Given the description of an element on the screen output the (x, y) to click on. 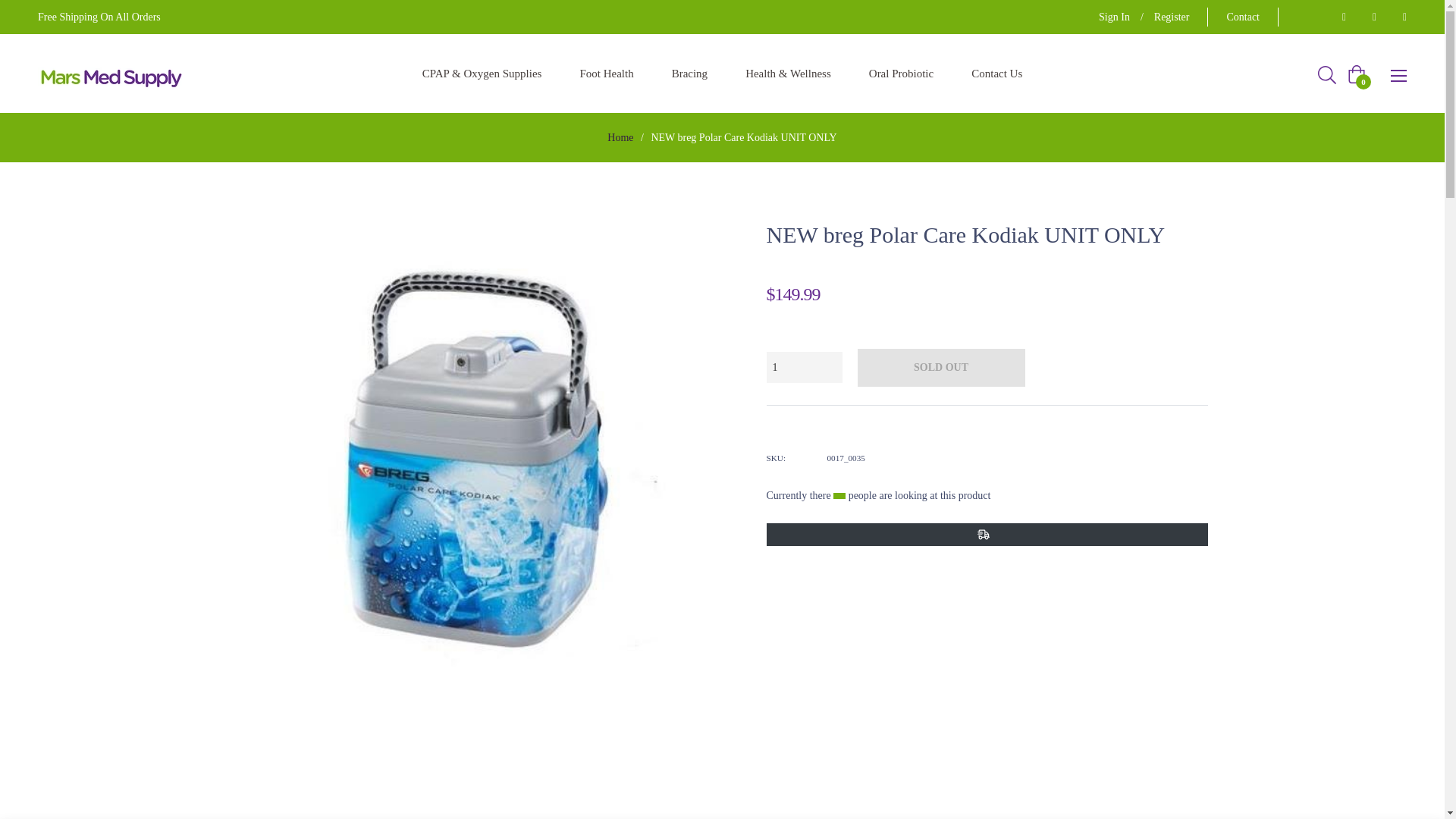
Sign In (1114, 17)
Bracing (689, 74)
Mars Med Supply on Linked (1400, 16)
Foot Health (606, 74)
Mars Med Supply on Facebook (1339, 16)
1 (803, 367)
Home (619, 137)
Oral Probiotic (901, 74)
Mars Med Supply on YouTube (1369, 16)
Contact Us (996, 74)
